Given the description of an element on the screen output the (x, y) to click on. 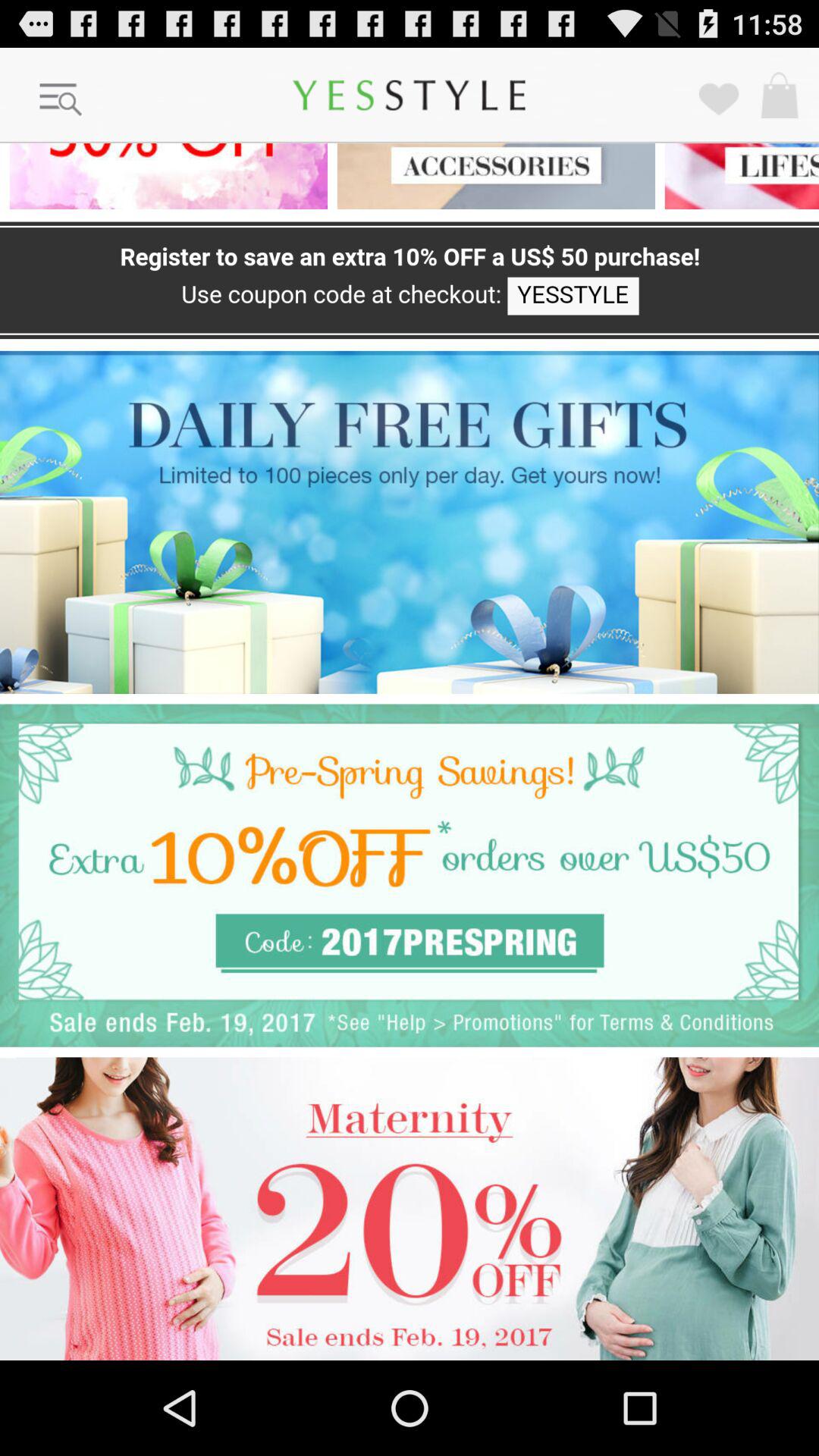
open accessories (491, 176)
